Given the description of an element on the screen output the (x, y) to click on. 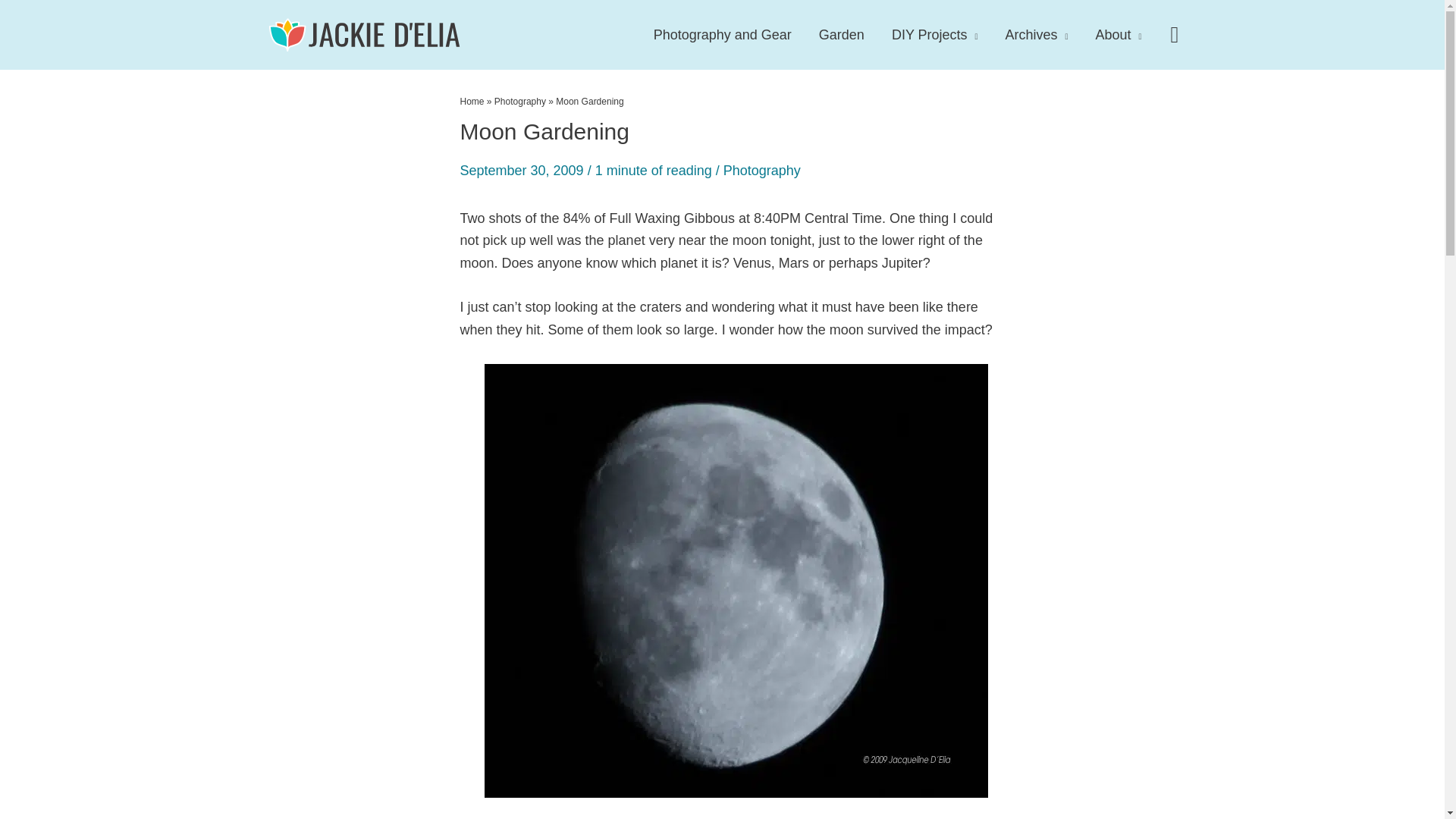
Photography and Gear (722, 34)
About (1118, 34)
Garden (841, 34)
moon-20090929-2 (735, 803)
DIY Projects (934, 34)
Archives (1036, 34)
